Given the description of an element on the screen output the (x, y) to click on. 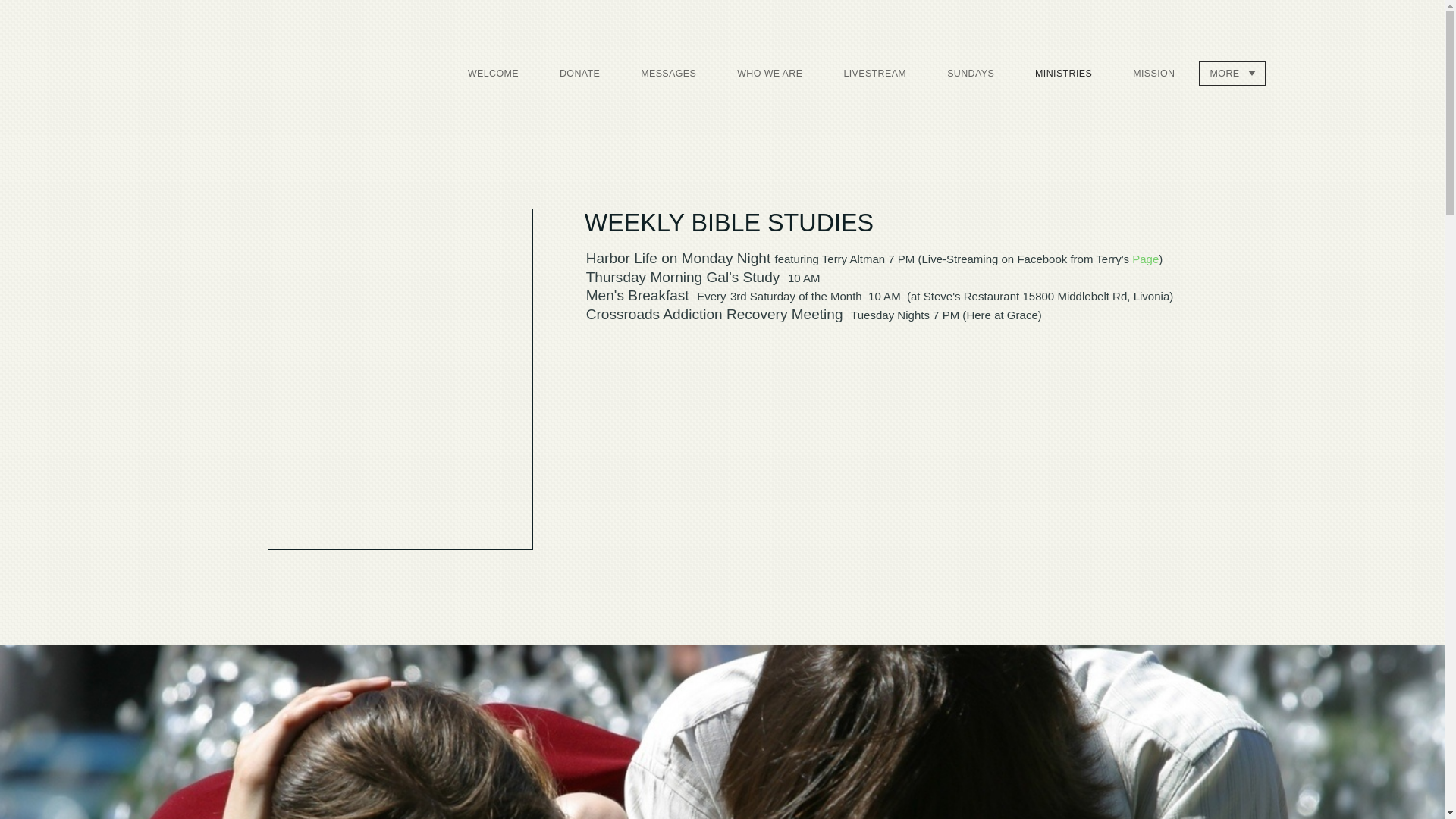
MINISTRIES (1063, 73)
MORE (1232, 73)
DONATE (579, 73)
MISSION (1153, 73)
MESSAGES (668, 73)
LIVESTREAM (874, 73)
SUNDAYS (970, 73)
Page (1145, 258)
WHO WE ARE (769, 73)
WELCOME (492, 73)
